Given the description of an element on the screen output the (x, y) to click on. 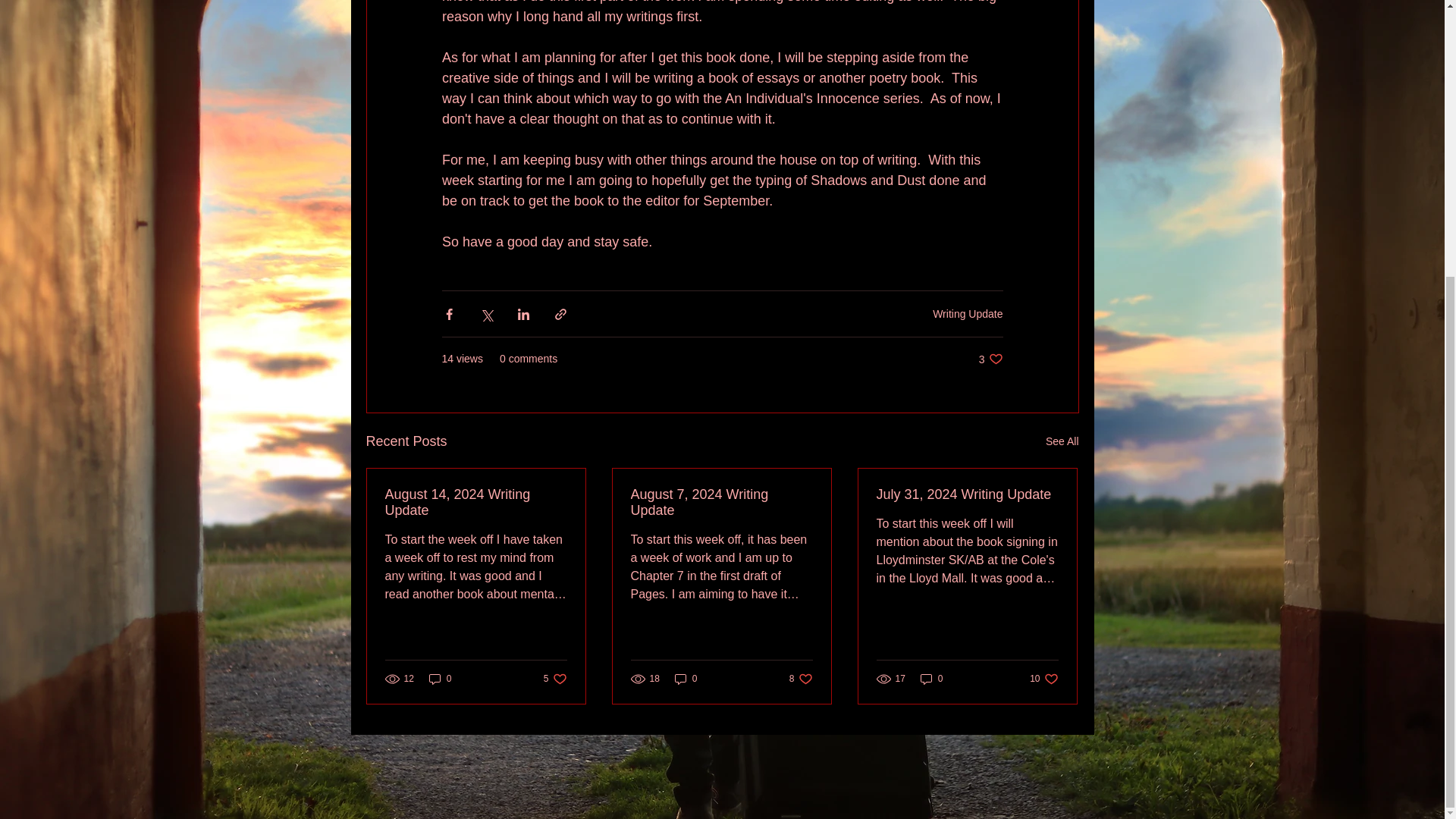
August 14, 2024 Writing Update (476, 502)
0 (555, 678)
0 (931, 678)
July 31, 2024 Writing Update (800, 678)
Writing Update (990, 359)
0 (685, 678)
See All (967, 494)
